Given the description of an element on the screen output the (x, y) to click on. 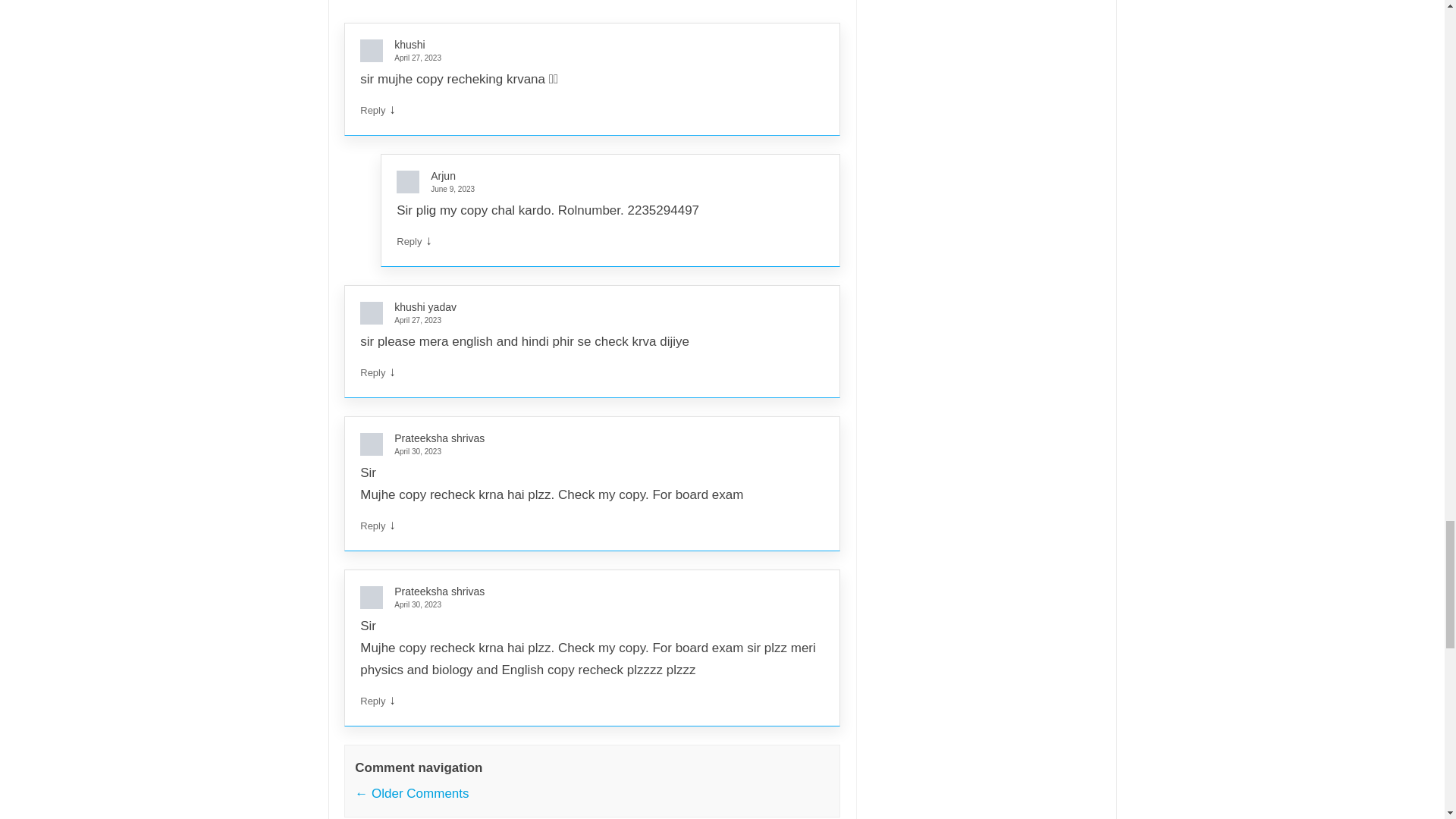
April 27, 2023 (585, 57)
